Given the description of an element on the screen output the (x, y) to click on. 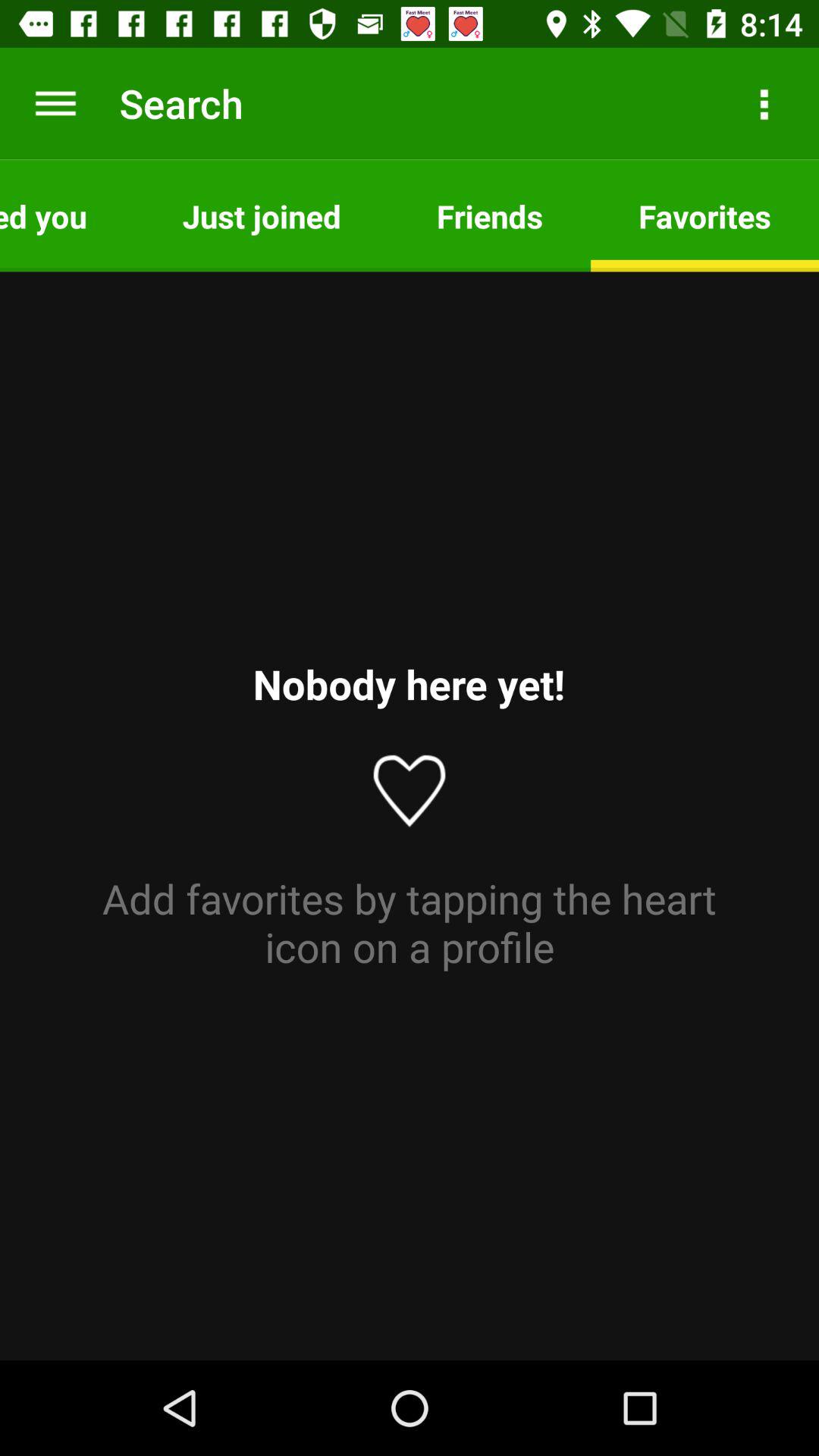
turn on the icon to the left of just joined app (67, 215)
